Given the description of an element on the screen output the (x, y) to click on. 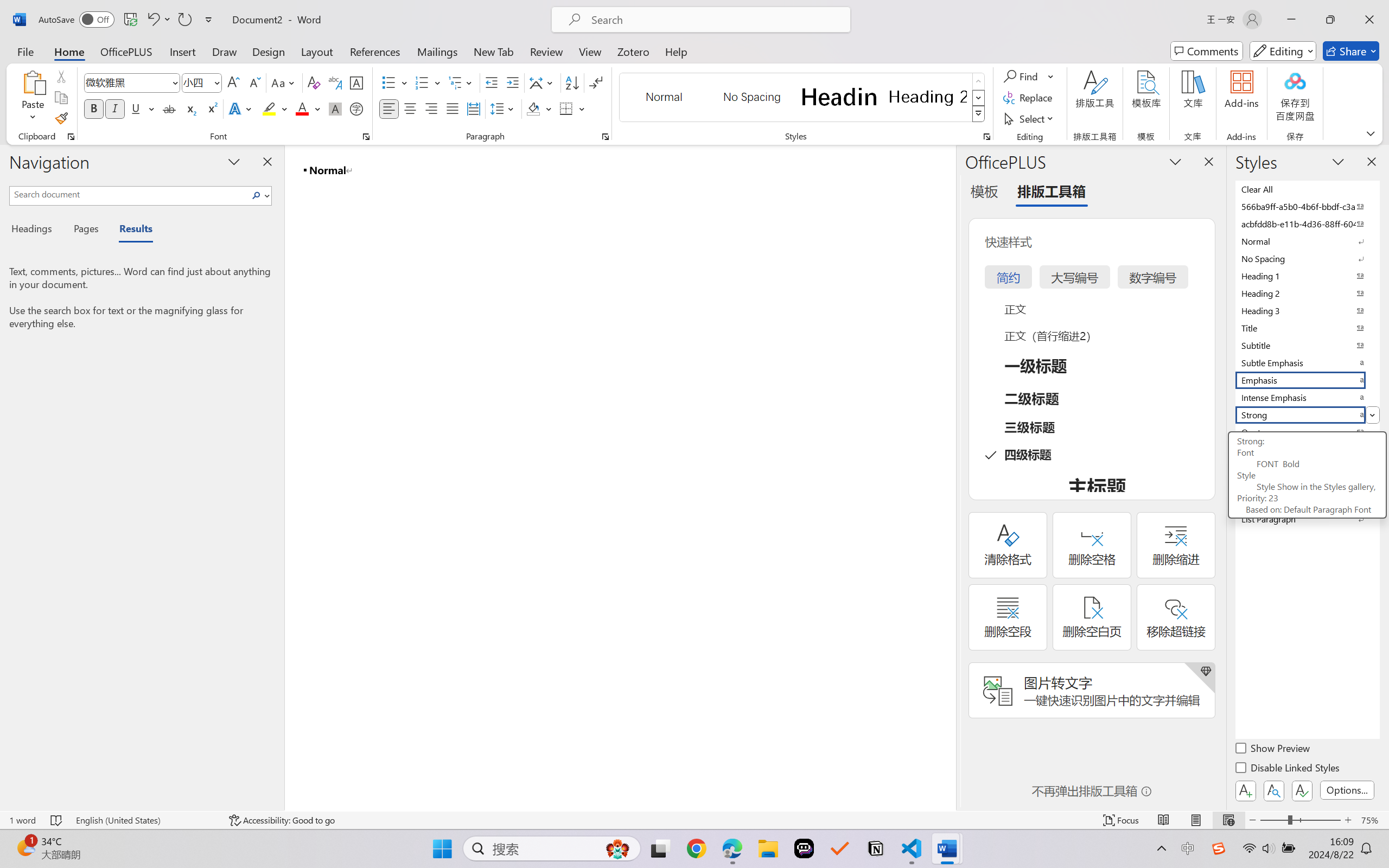
acbfdd8b-e11b-4d36-88ff-6049b138f862 (1306, 223)
Subscript (190, 108)
Format Painter (60, 118)
Paste (33, 81)
No Spacing (1306, 258)
Subtle Reference (1306, 466)
Design (268, 51)
Select (1030, 118)
Copy (60, 97)
Ribbon Display Options (1370, 132)
